Given the description of an element on the screen output the (x, y) to click on. 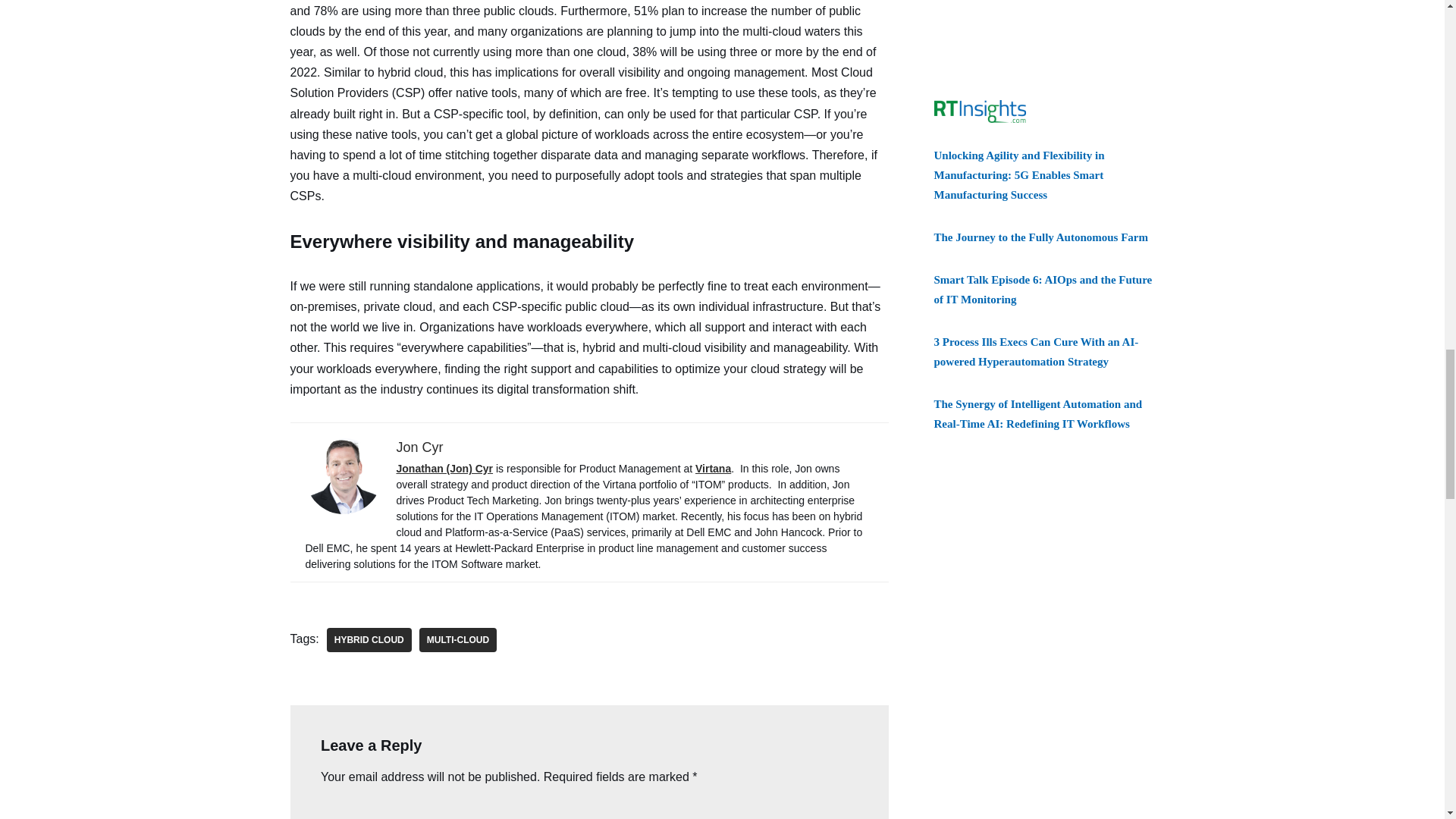
hybrid cloud (369, 639)
Virtana (712, 468)
multi-cloud (457, 639)
Jon Cyr (419, 447)
